Given the description of an element on the screen output the (x, y) to click on. 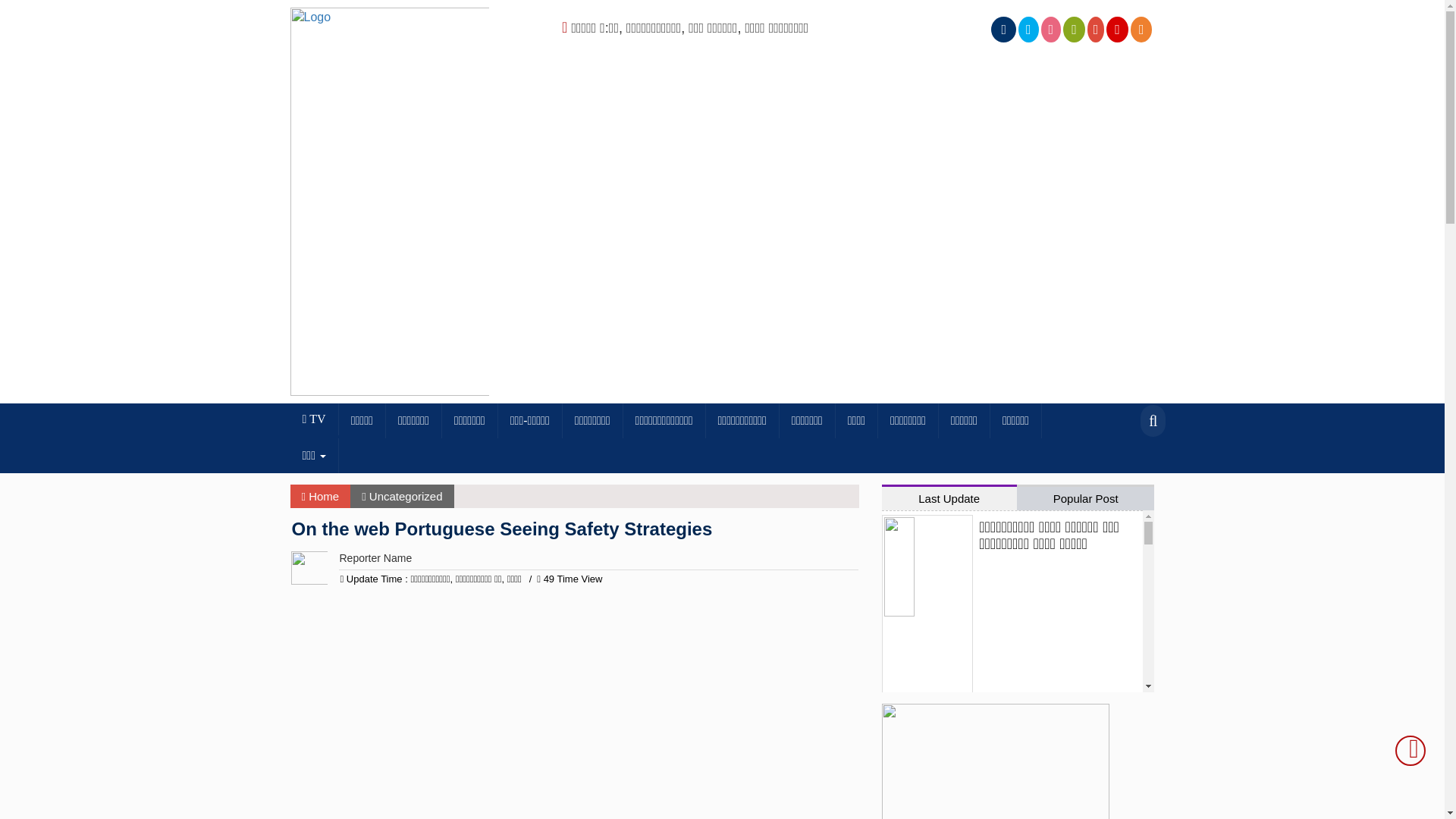
 TV (313, 418)
TV (313, 418)
Uncategorized (405, 495)
Home (320, 495)
